Given the description of an element on the screen output the (x, y) to click on. 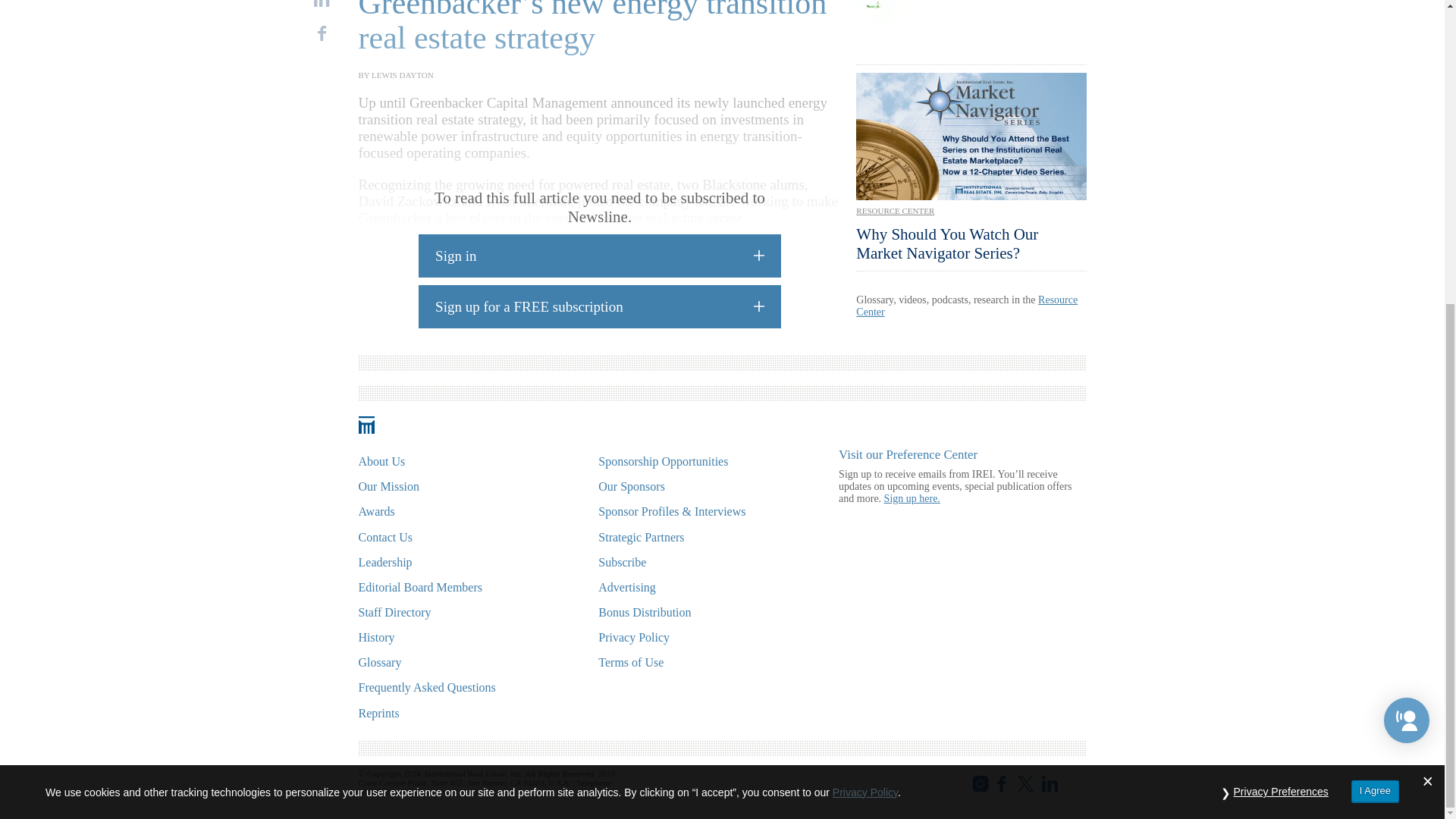
Privacy Policy (865, 315)
LinkedIn (321, 3)
